Given the description of an element on the screen output the (x, y) to click on. 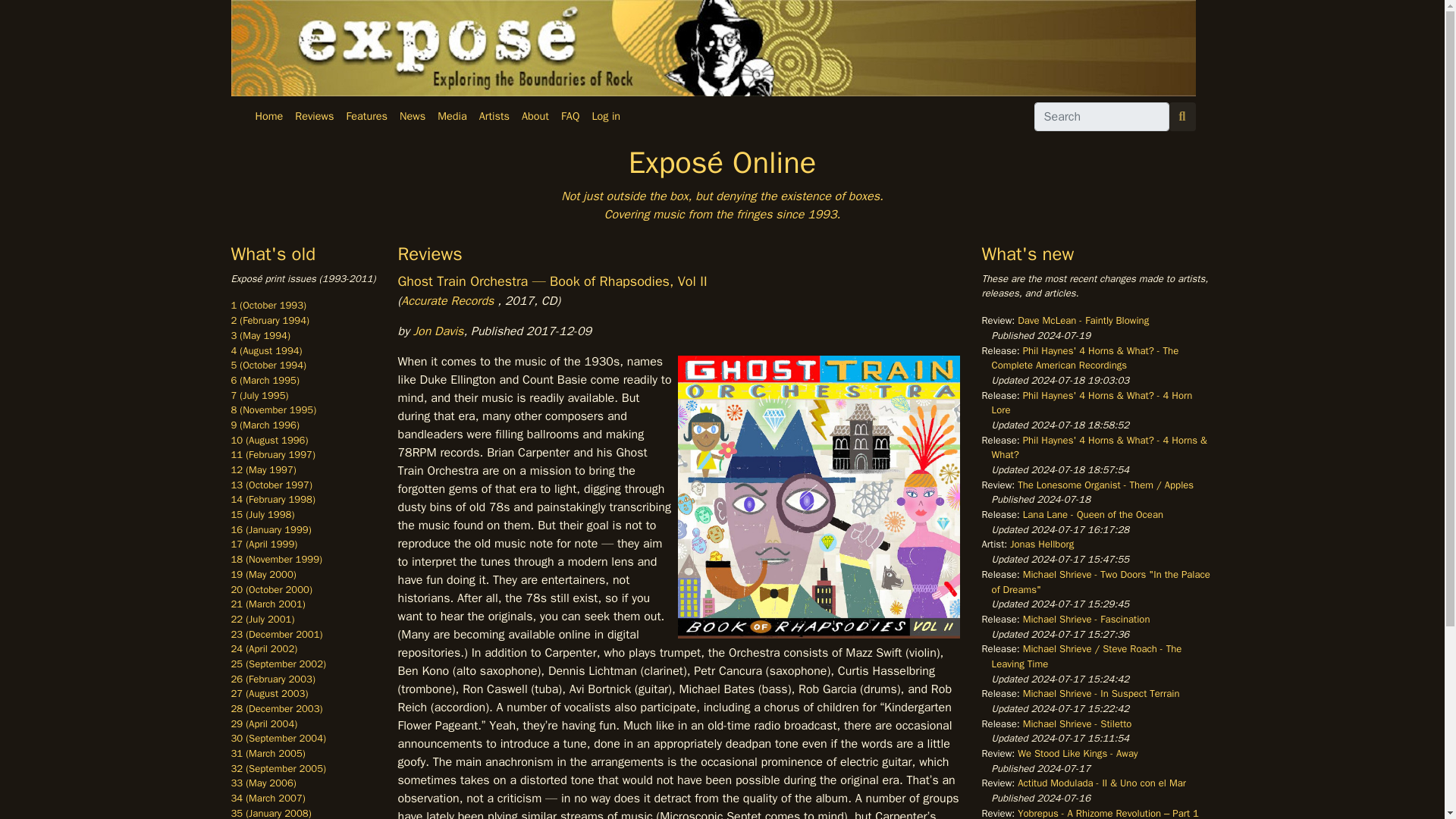
Media (451, 116)
Artists (494, 116)
Log in (605, 116)
Book of Rhapsodies, Vol II Cover art (819, 496)
FAQ (569, 116)
News (411, 116)
About (534, 116)
Features (366, 116)
Home (268, 116)
Reviews (313, 116)
